Given the description of an element on the screen output the (x, y) to click on. 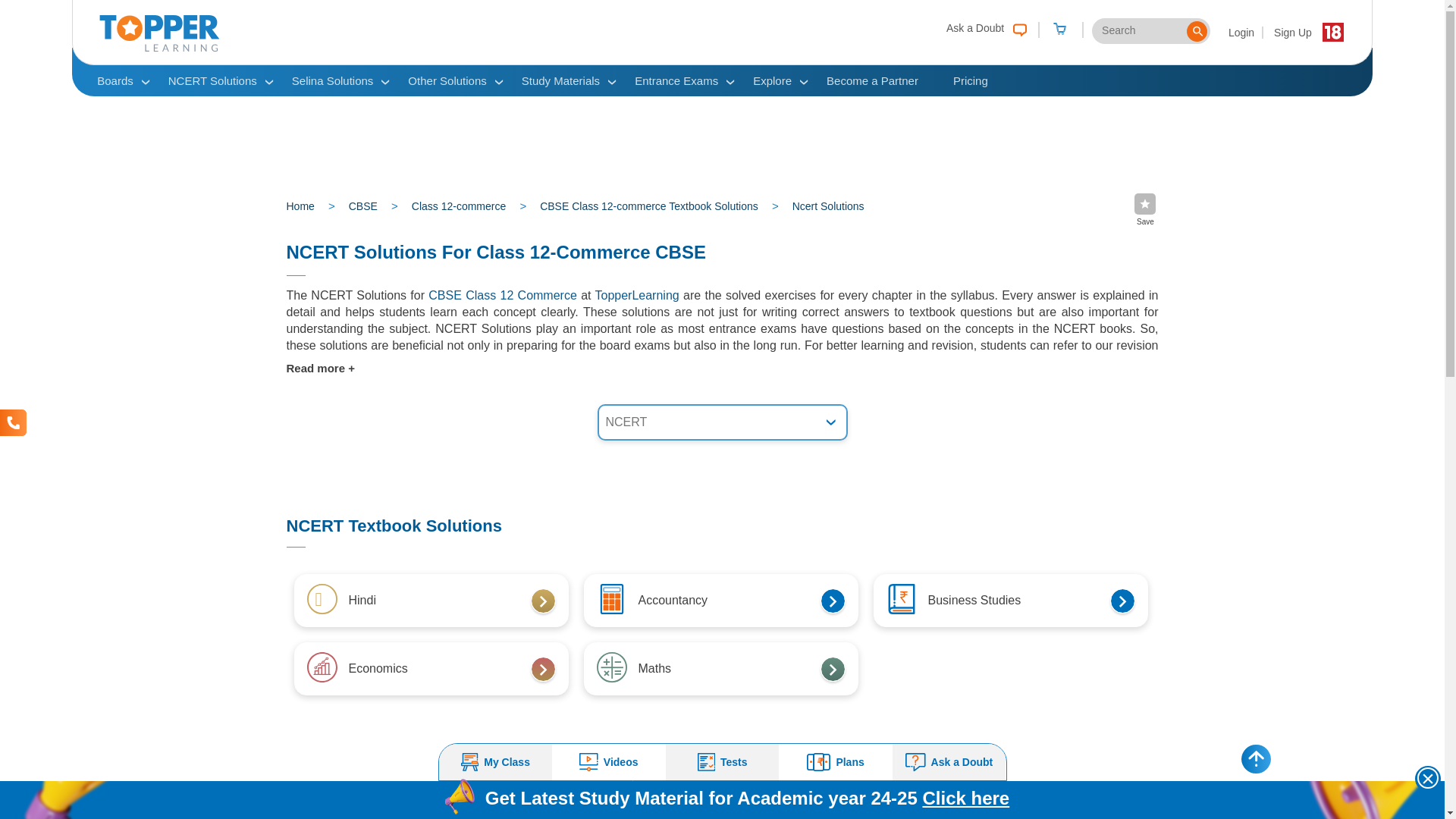
Get in Touch (13, 422)
Boards (114, 80)
Ask a Doubt (986, 28)
TopperLearning (159, 47)
Sign Up (1292, 32)
Maths (610, 598)
Maths (320, 666)
Back to top (1256, 758)
Maths (900, 598)
Maths (610, 666)
